Given the description of an element on the screen output the (x, y) to click on. 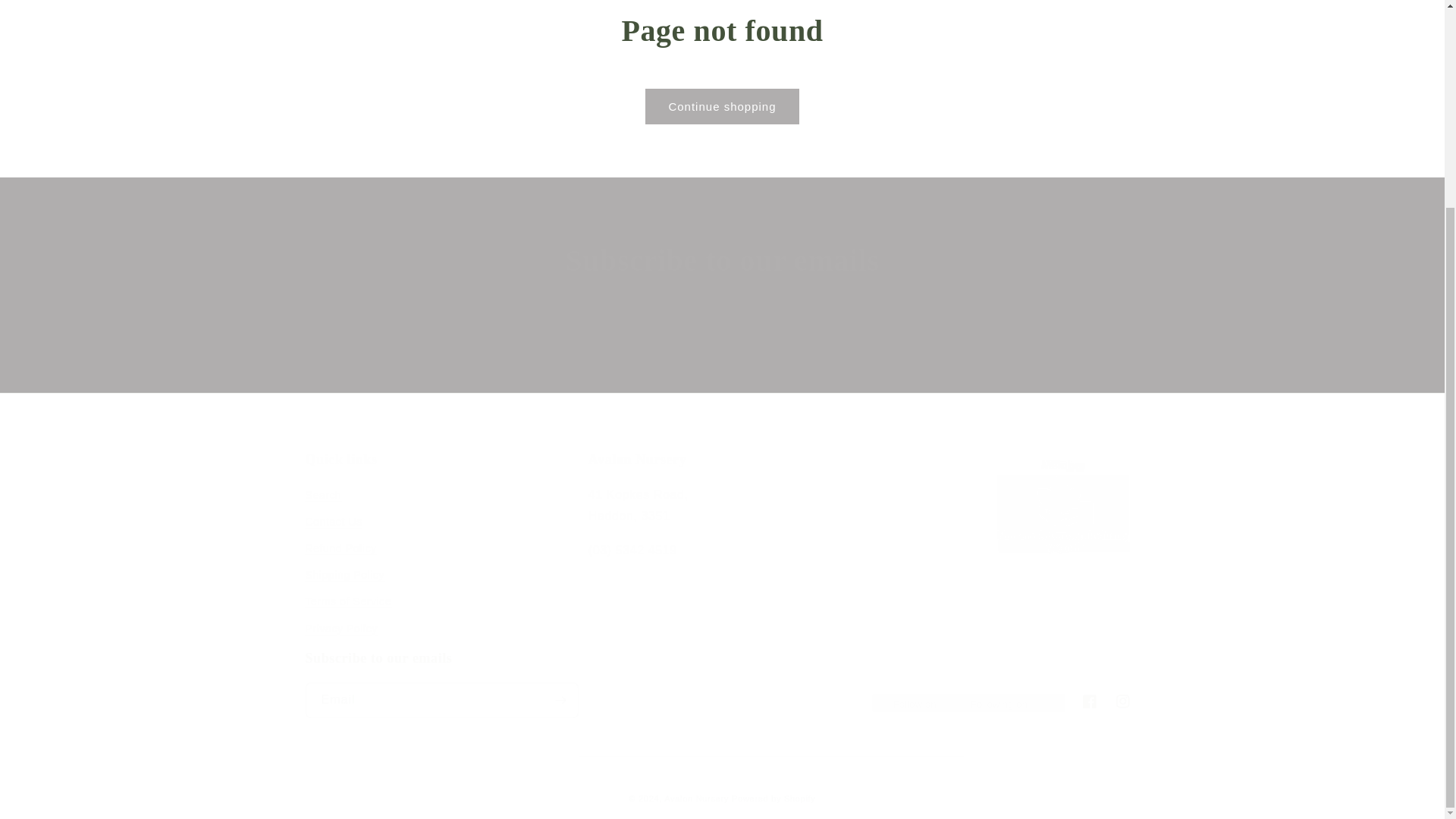
Subscribe to our emails (721, 260)
Email (722, 350)
